Given the description of an element on the screen output the (x, y) to click on. 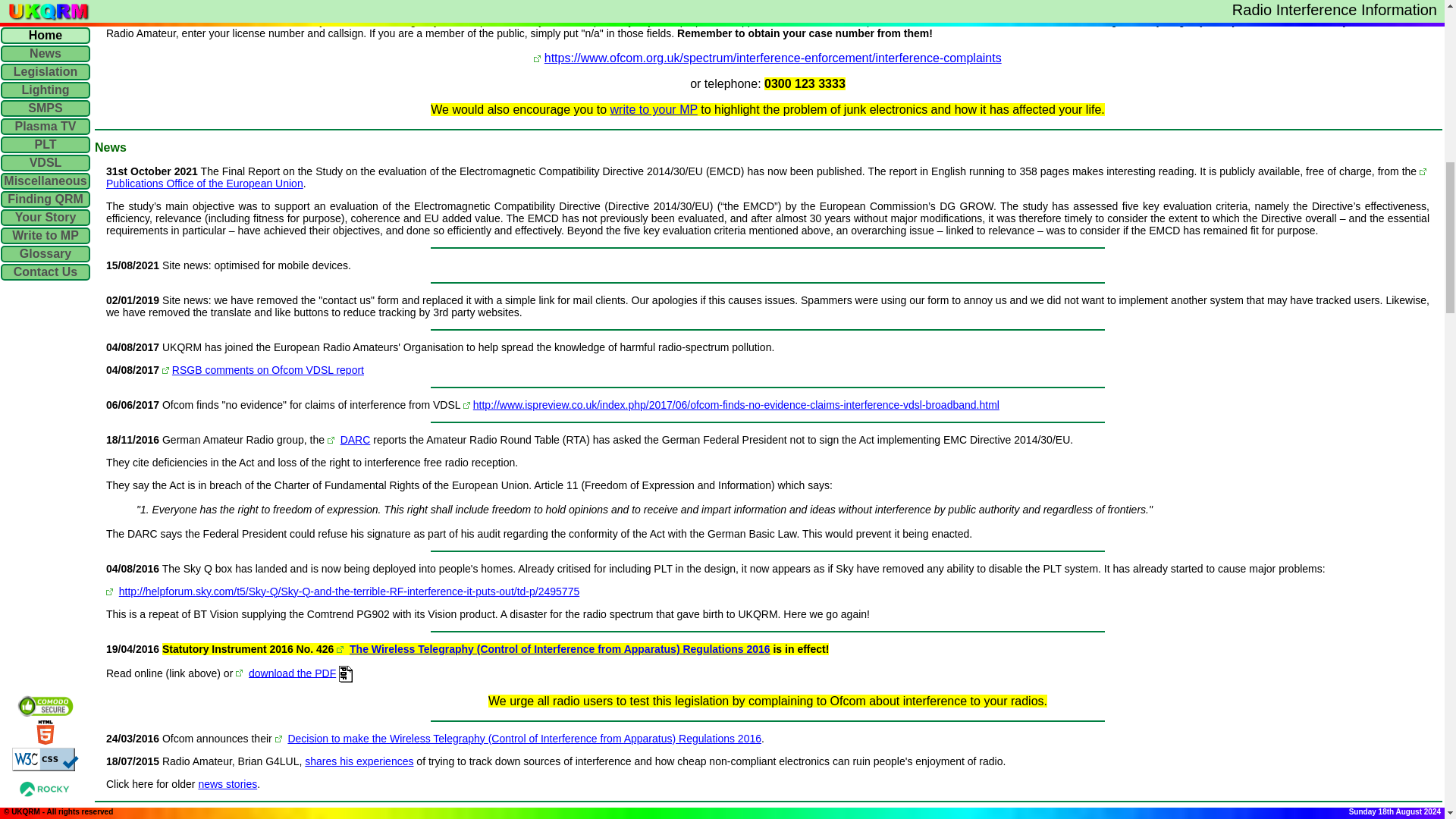
news stories (227, 784)
shares his experiences (358, 761)
Publications Office of the European Union (204, 183)
download the PDF (292, 672)
write to your MP (653, 109)
Finding QRM (612, 9)
Click here for the finding QRM page. (612, 9)
DARC (355, 439)
RSGB comments on Ofcom VDSL report (267, 369)
